Given the description of an element on the screen output the (x, y) to click on. 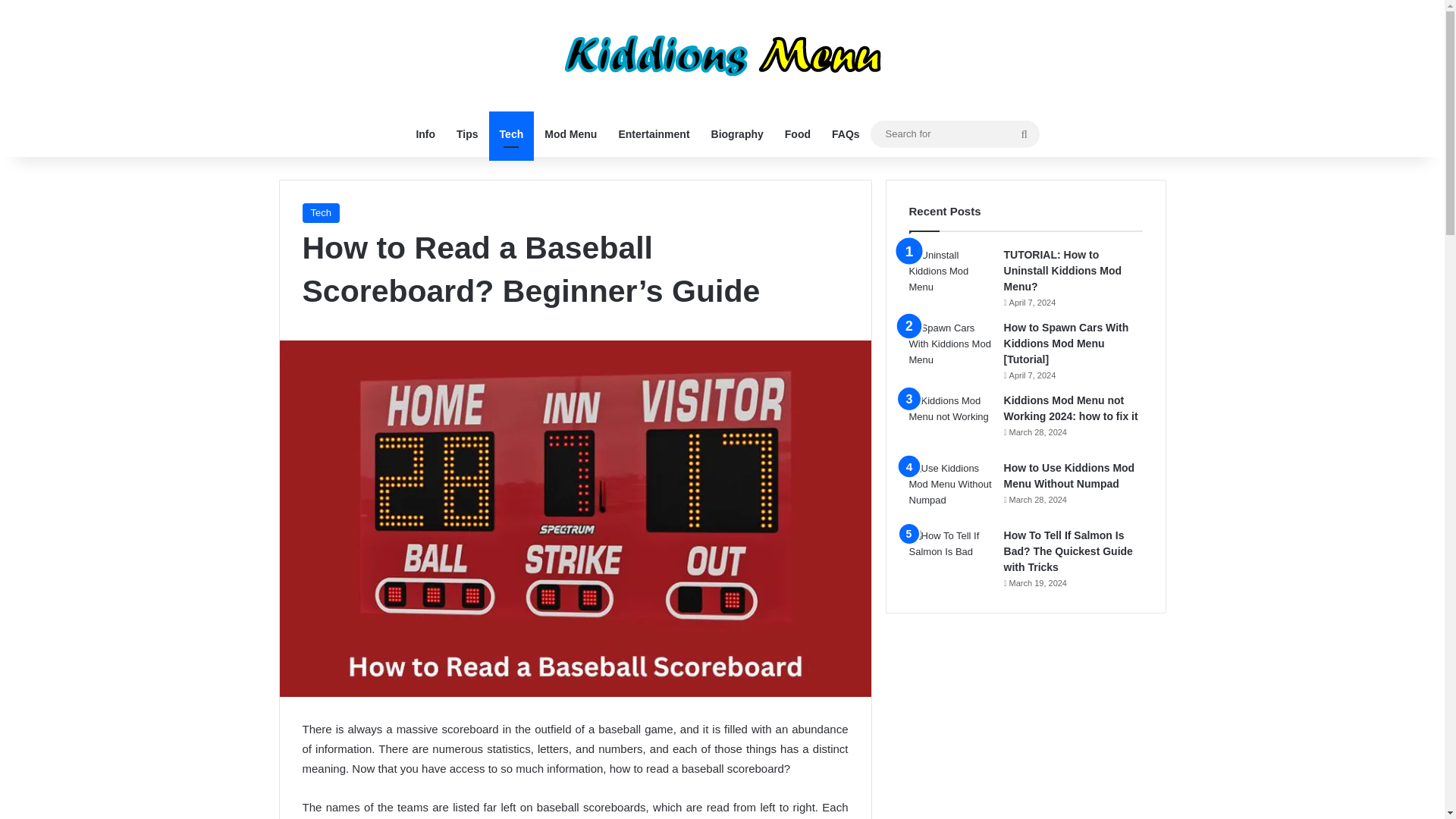
Info (424, 134)
Food (797, 134)
Biography (737, 134)
Entertainment (653, 134)
Tech (511, 134)
Search for (954, 133)
Search for (1024, 134)
Tips (467, 134)
FAQs (845, 134)
Tech (320, 212)
